Given the description of an element on the screen output the (x, y) to click on. 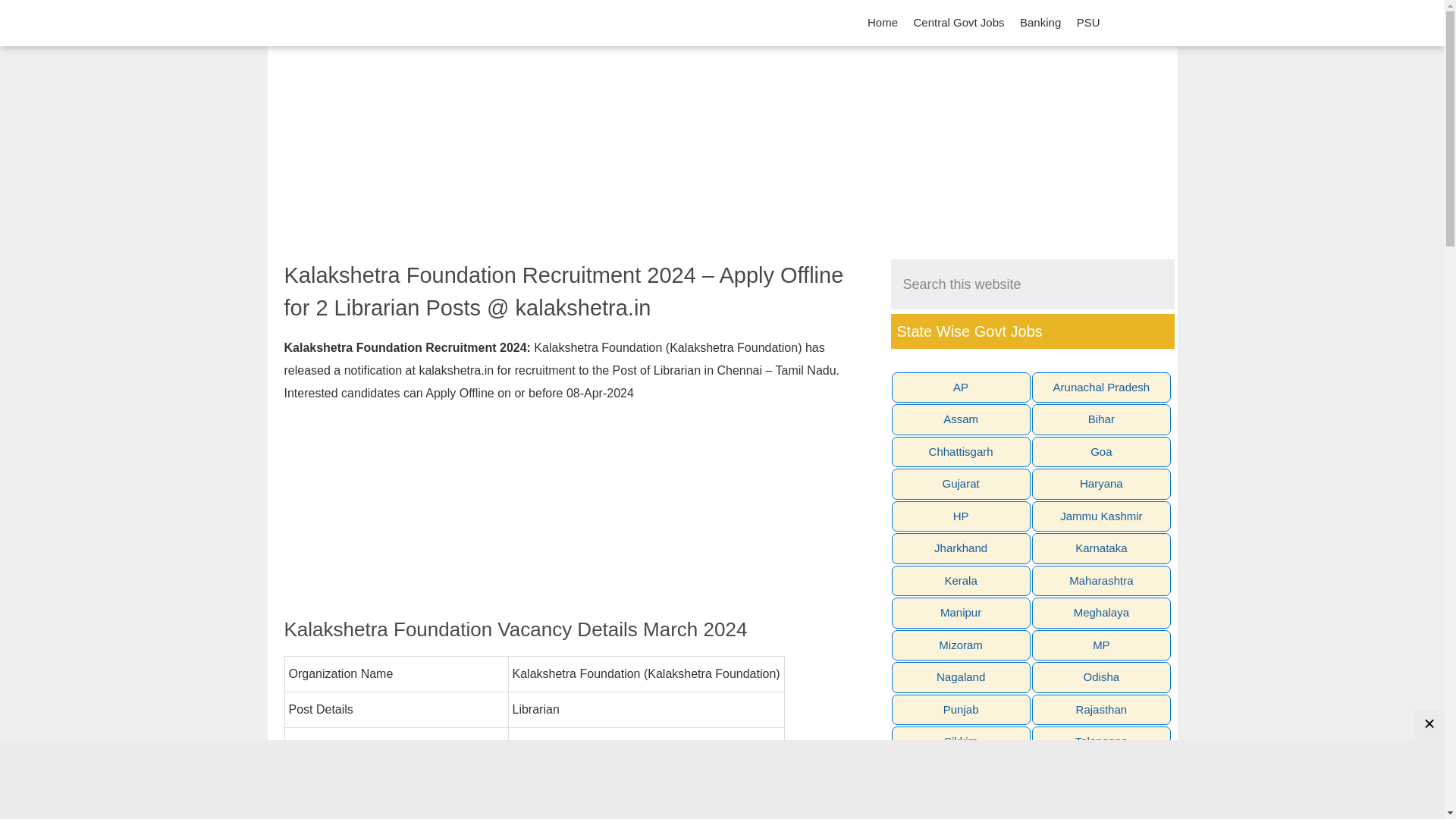
Arunachal Pradesh (1101, 387)
Bihar (1101, 419)
Goa (1101, 451)
Haryana (1101, 483)
Chhattisgarh (960, 451)
Home (882, 22)
Meghalaya (1101, 612)
Tamil Nadu (602, 814)
Odisha (1101, 676)
TN (960, 774)
